Given the description of an element on the screen output the (x, y) to click on. 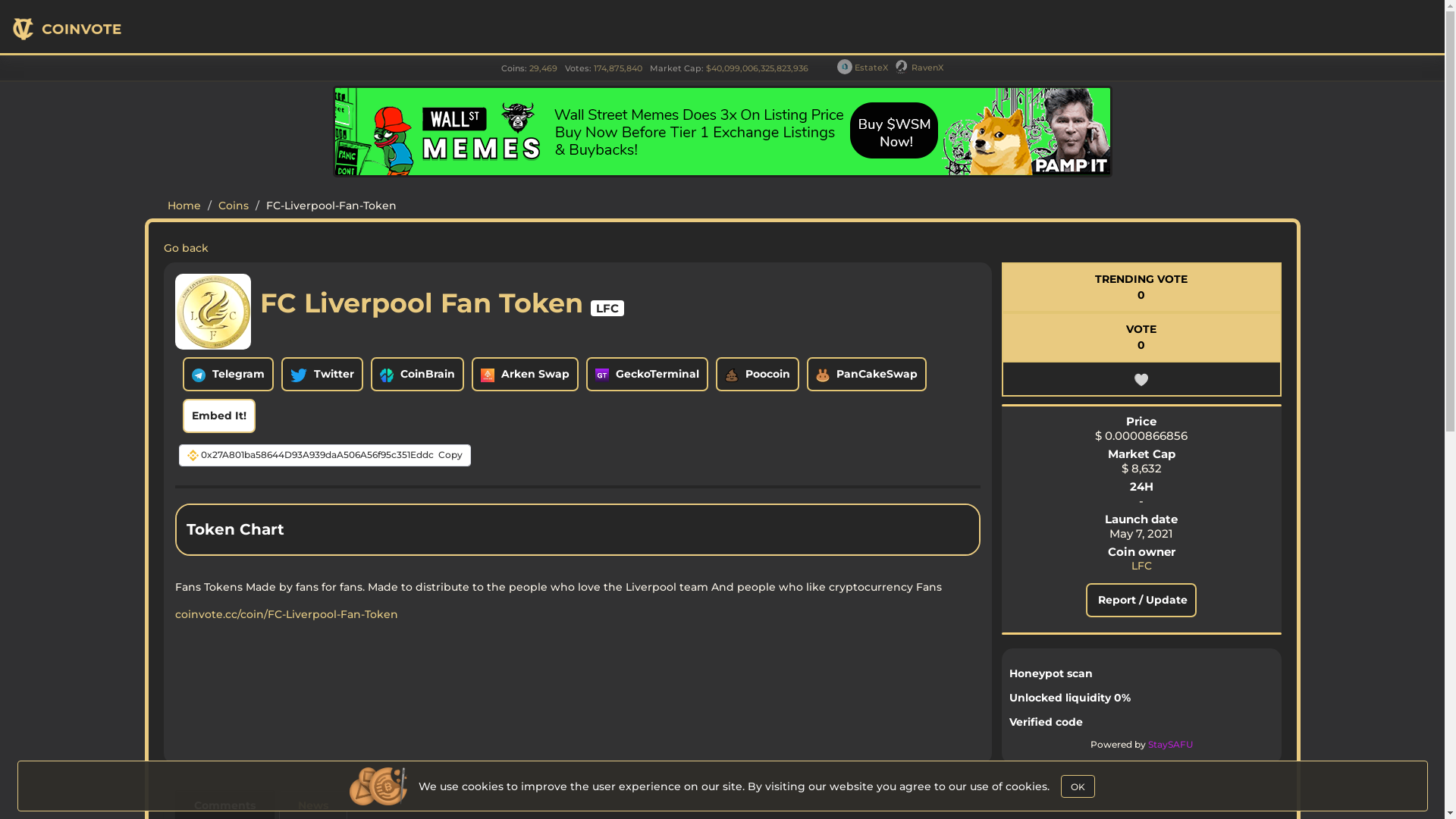
Arken Swap Element type: text (524, 374)
coinvote.cc/coin/FC-Liverpool-Fan-Token Element type: text (285, 614)
GeckoTerminal Element type: text (647, 374)
Copy Element type: text (450, 454)
29,469 Element type: text (543, 67)
OK Element type: text (1077, 786)
Go back Element type: text (185, 247)
Embed It! Element type: text (218, 415)
Poocoin Element type: text (757, 374)
174,875,840 Element type: text (617, 67)
TRENDING VOTE
0 Element type: text (1141, 287)
LFC Element type: text (1141, 565)
Token Chart Element type: text (578, 532)
 Report / Update Element type: text (1140, 600)
PanCakeSwap Element type: text (866, 374)
Coins Element type: text (233, 205)
Home Element type: text (183, 205)
Telegram Element type: text (227, 374)
0x27A801ba58644D93A939daA506A56f95c351Eddc Element type: text (316, 454)
RavenX Element type: text (919, 67)
CoinBrain Element type: text (417, 374)
VOTE
0 Element type: text (1141, 337)
EstateX Element type: text (863, 67)
$40,099,006,325,823,936 Element type: text (757, 67)
StaySAFU Element type: text (1170, 743)
Twitter Element type: text (321, 374)
